Given the description of an element on the screen output the (x, y) to click on. 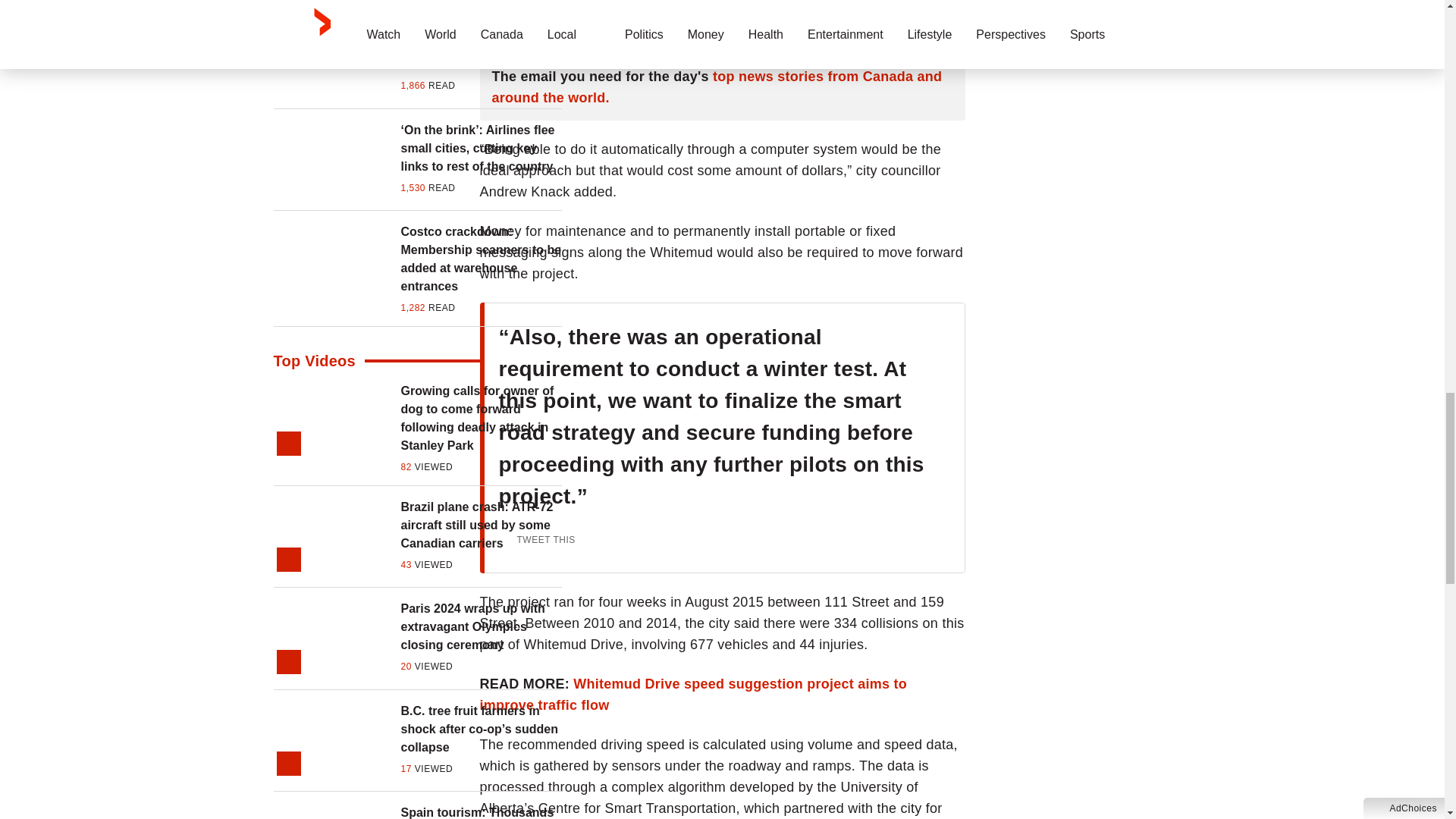
Canada caps Olympic Games with record medal haul (480, 45)
